Given the description of an element on the screen output the (x, y) to click on. 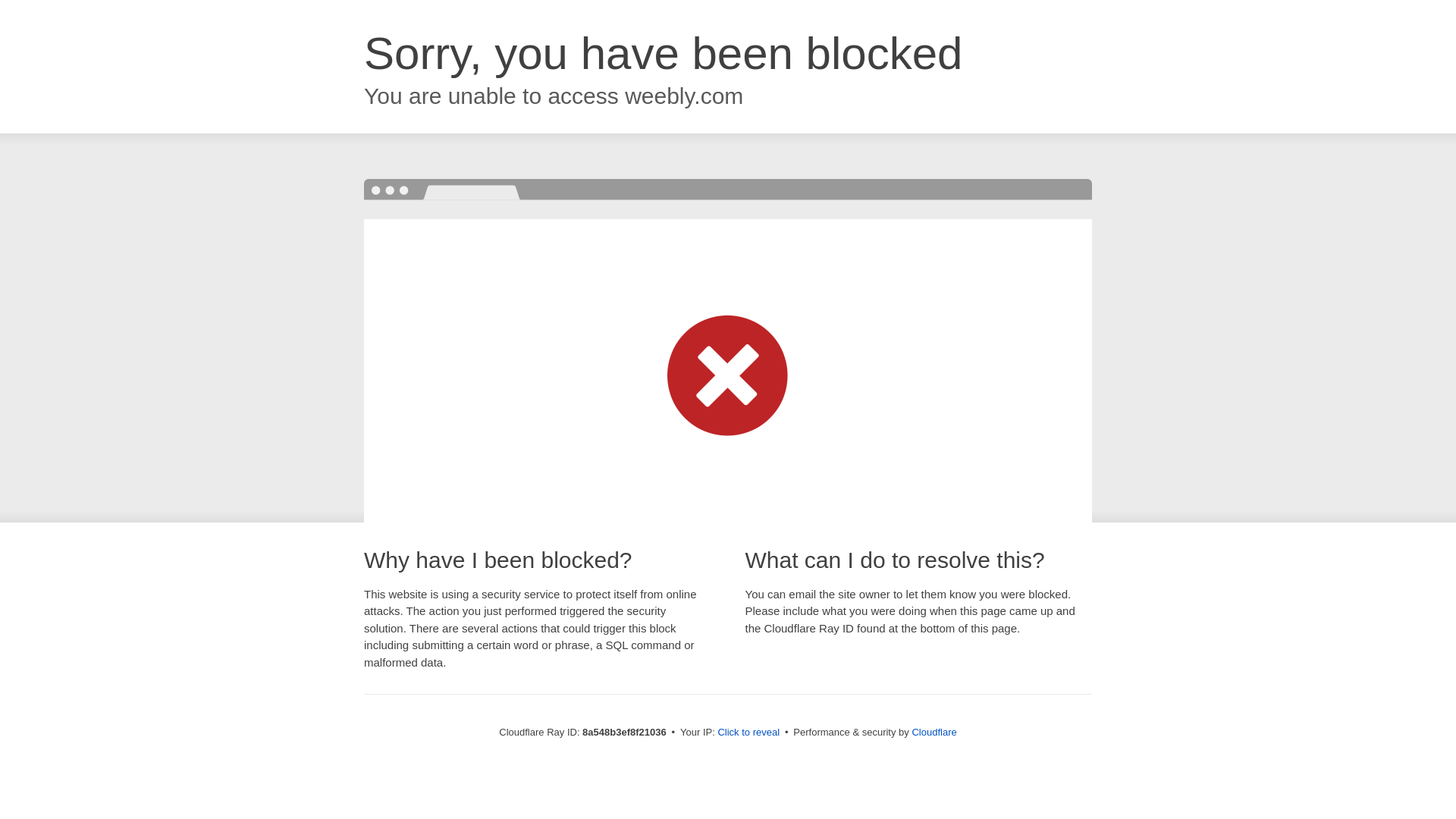
Cloudflare (933, 731)
Click to reveal (747, 732)
